Given the description of an element on the screen output the (x, y) to click on. 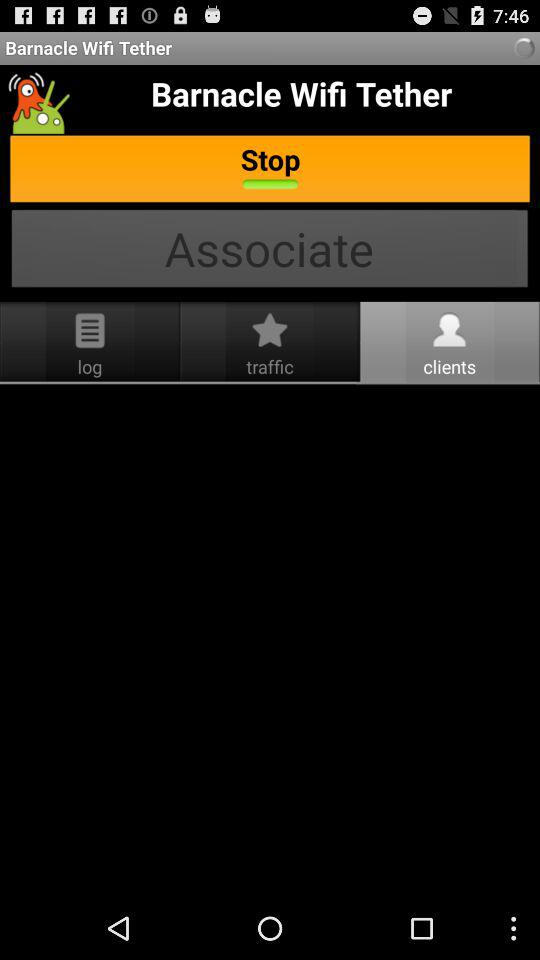
check client list (270, 641)
